Given the description of an element on the screen output the (x, y) to click on. 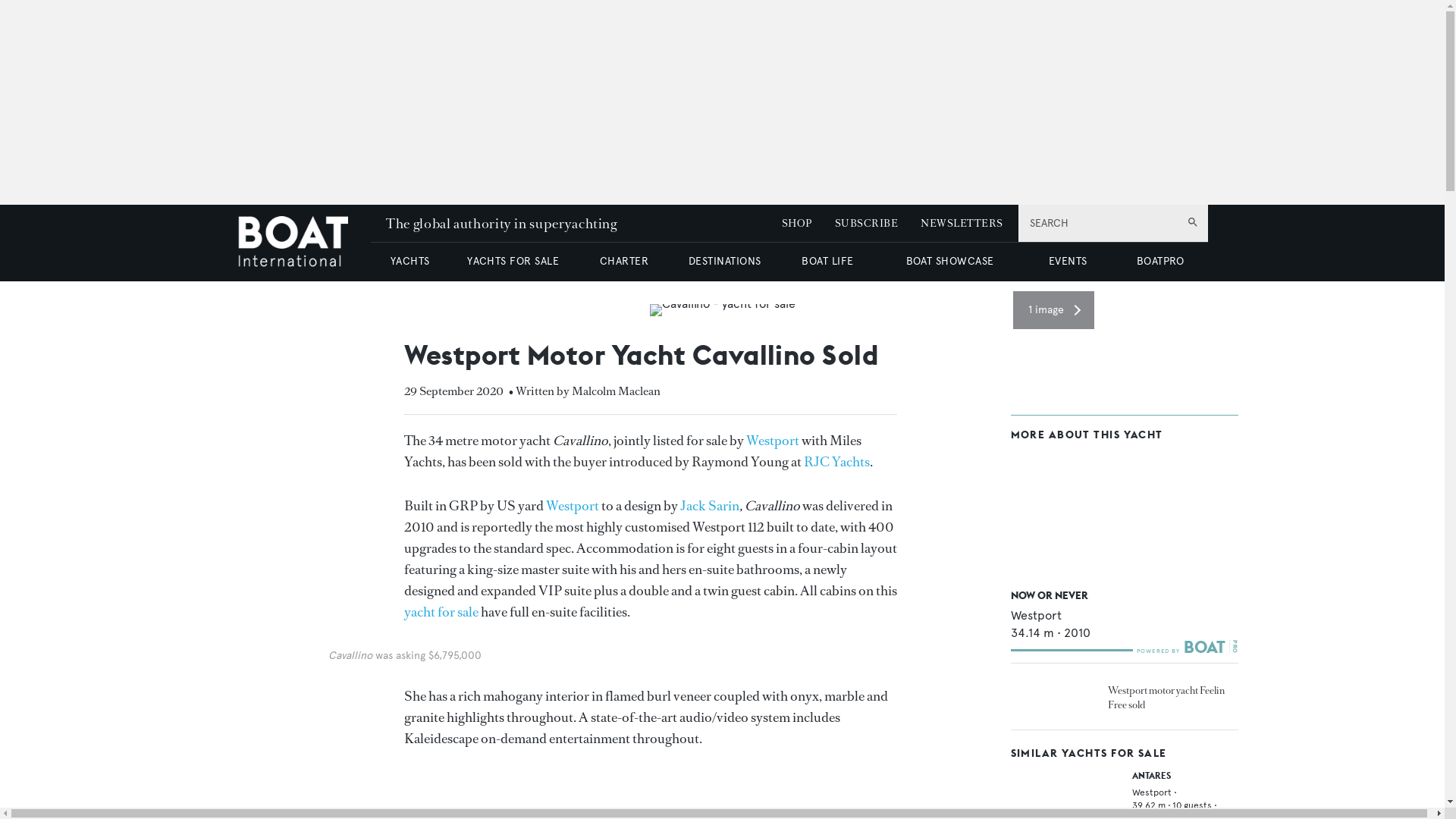
YACHTS FOR SALE (512, 261)
DESTINATIONS (724, 261)
YACHTS (410, 261)
CHARTER (623, 261)
SUBSCRIBE (866, 223)
NEWSLETTERS (961, 223)
SHOP (796, 223)
